Given the description of an element on the screen output the (x, y) to click on. 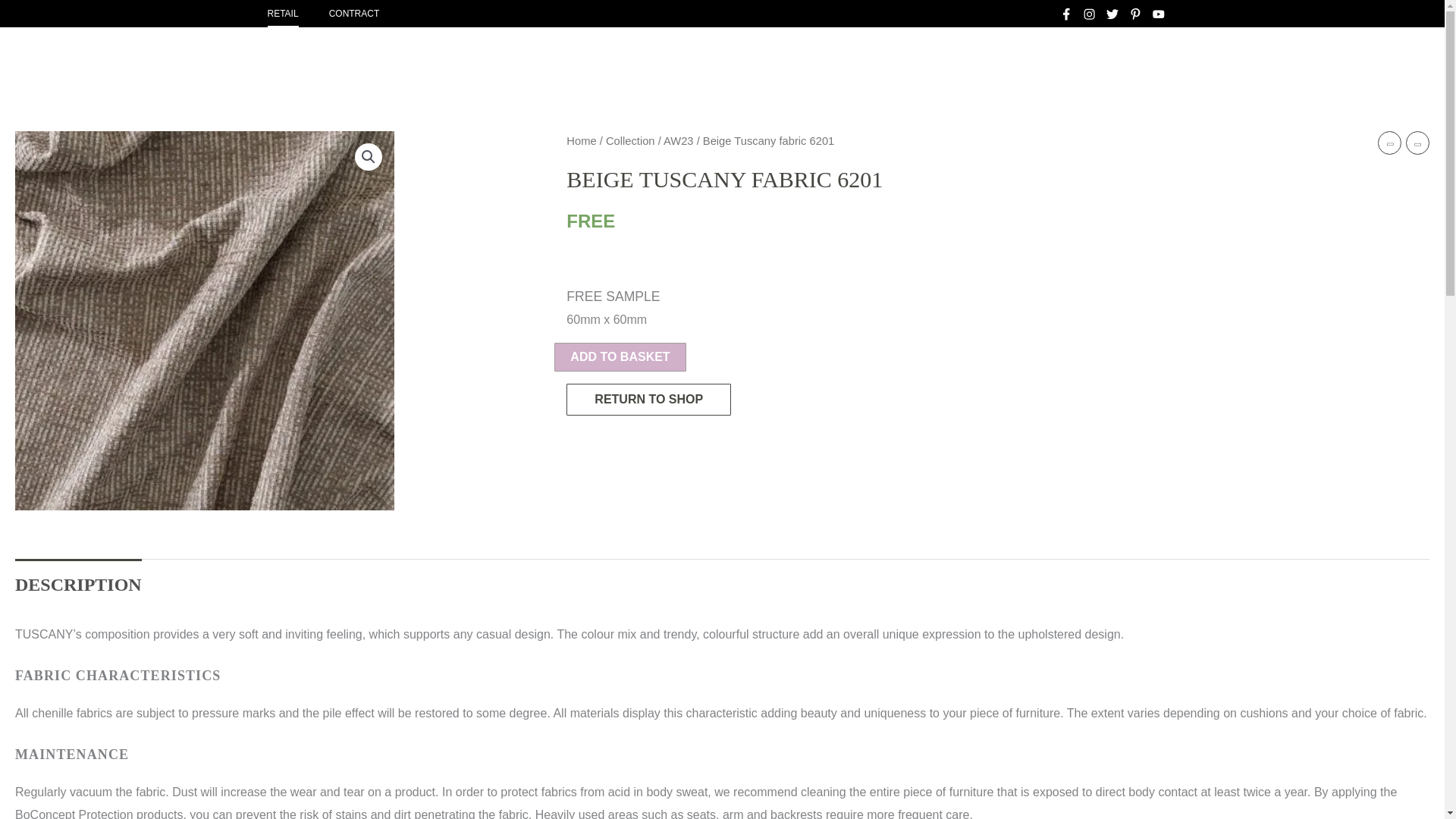
SALE (838, 55)
PROJECTS (923, 55)
RETAIL (282, 13)
CONTRACT (354, 13)
PRODUCTS (1028, 55)
